Given the description of an element on the screen output the (x, y) to click on. 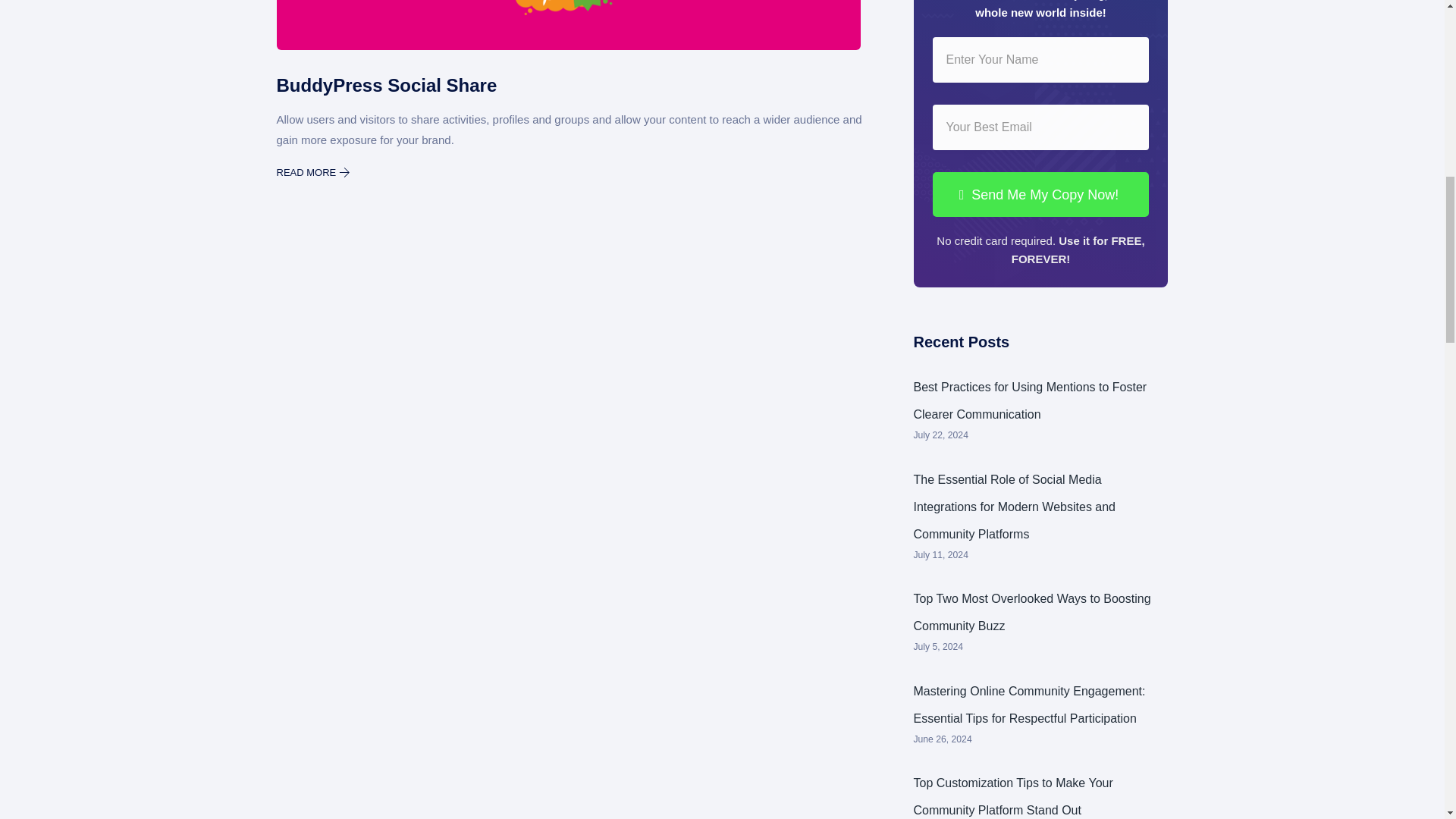
BuddyPress Social Share (570, 85)
READ MORE (314, 172)
Top Two Most Overlooked Ways to Boosting Community Buzz (1031, 612)
